Given the description of an element on the screen output the (x, y) to click on. 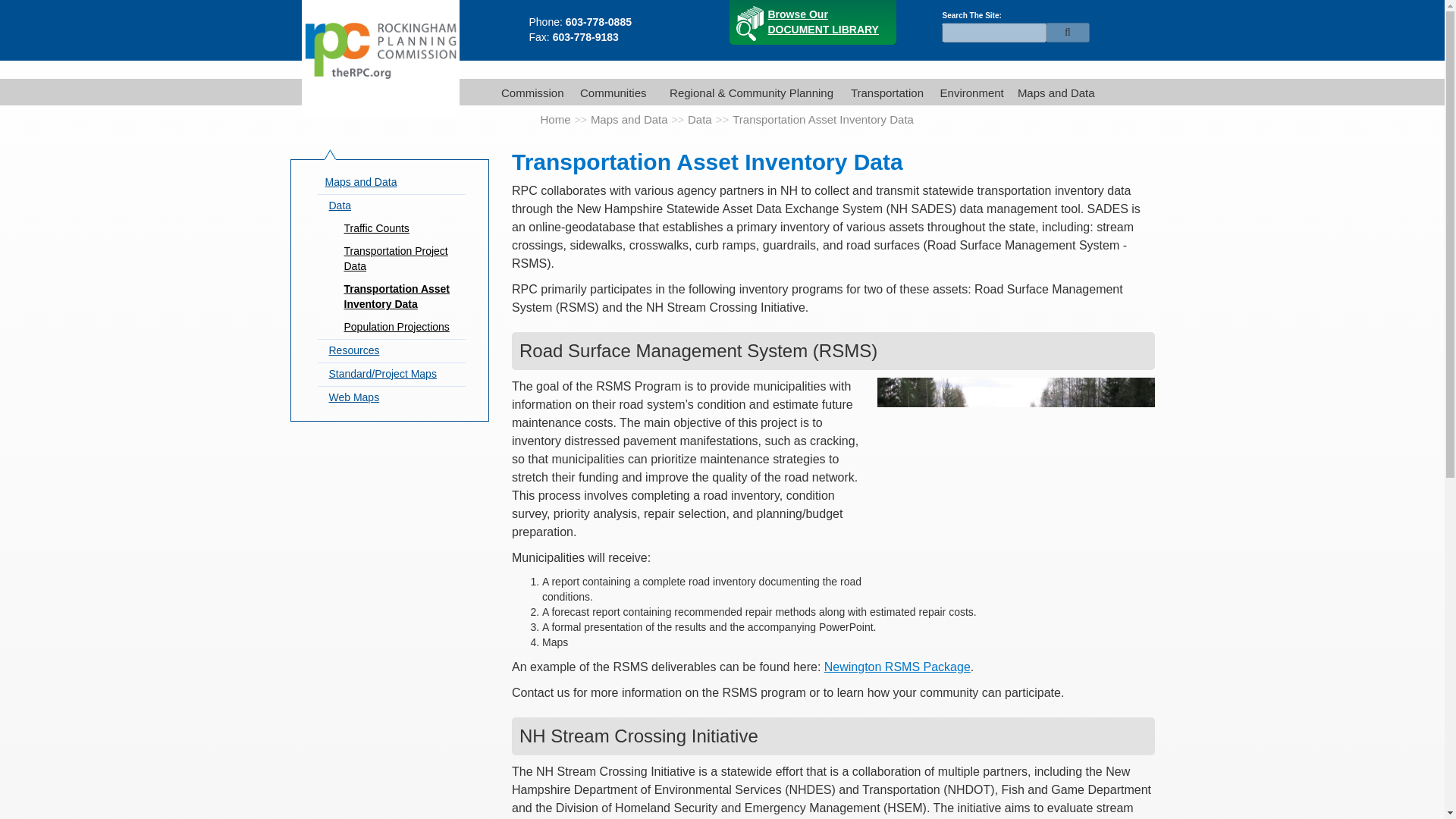
Communities (812, 22)
Commission (610, 90)
Communities (529, 90)
Commission (610, 90)
